Given the description of an element on the screen output the (x, y) to click on. 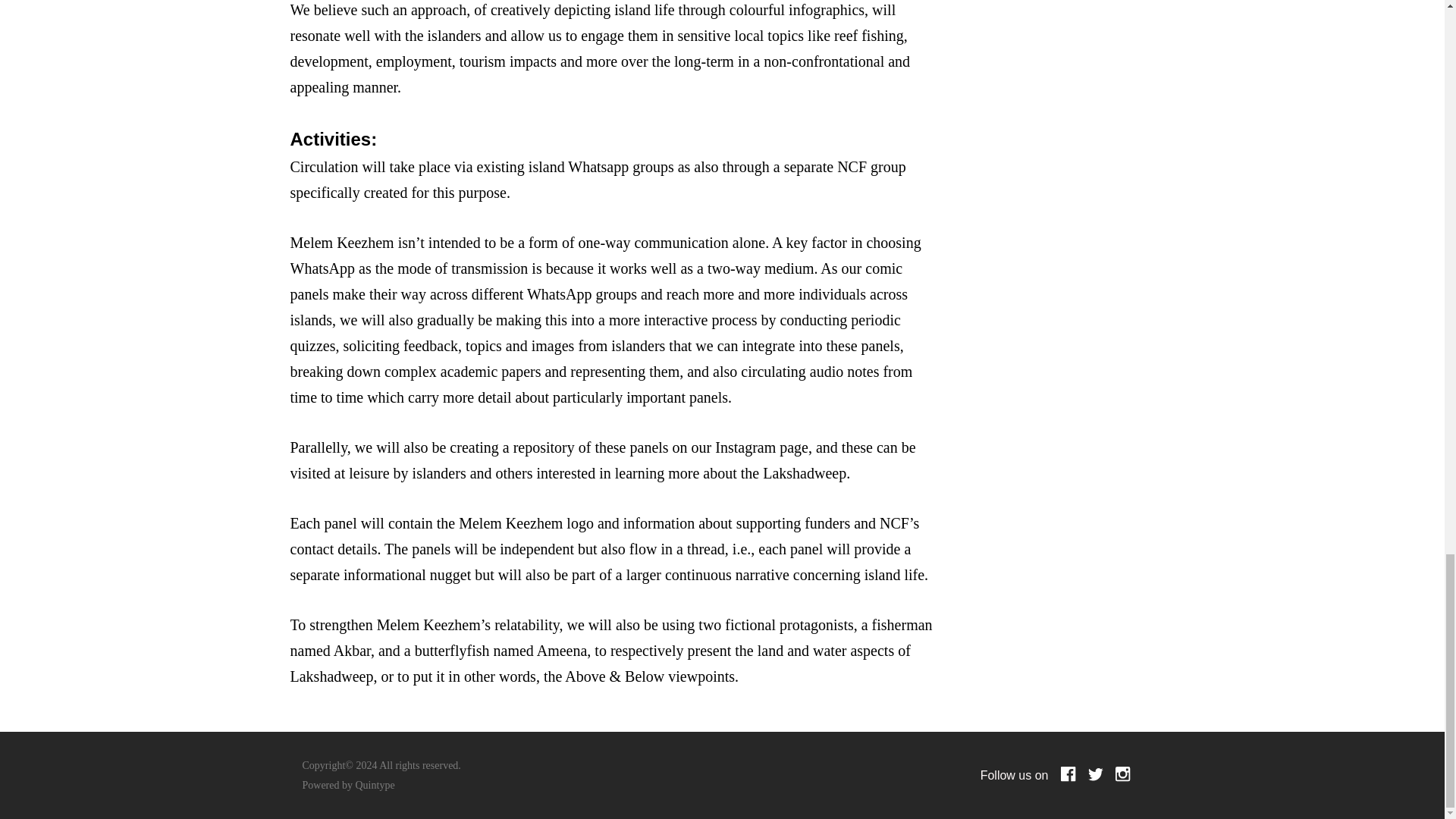
Powered by Quintype (347, 785)
